Given the description of an element on the screen output the (x, y) to click on. 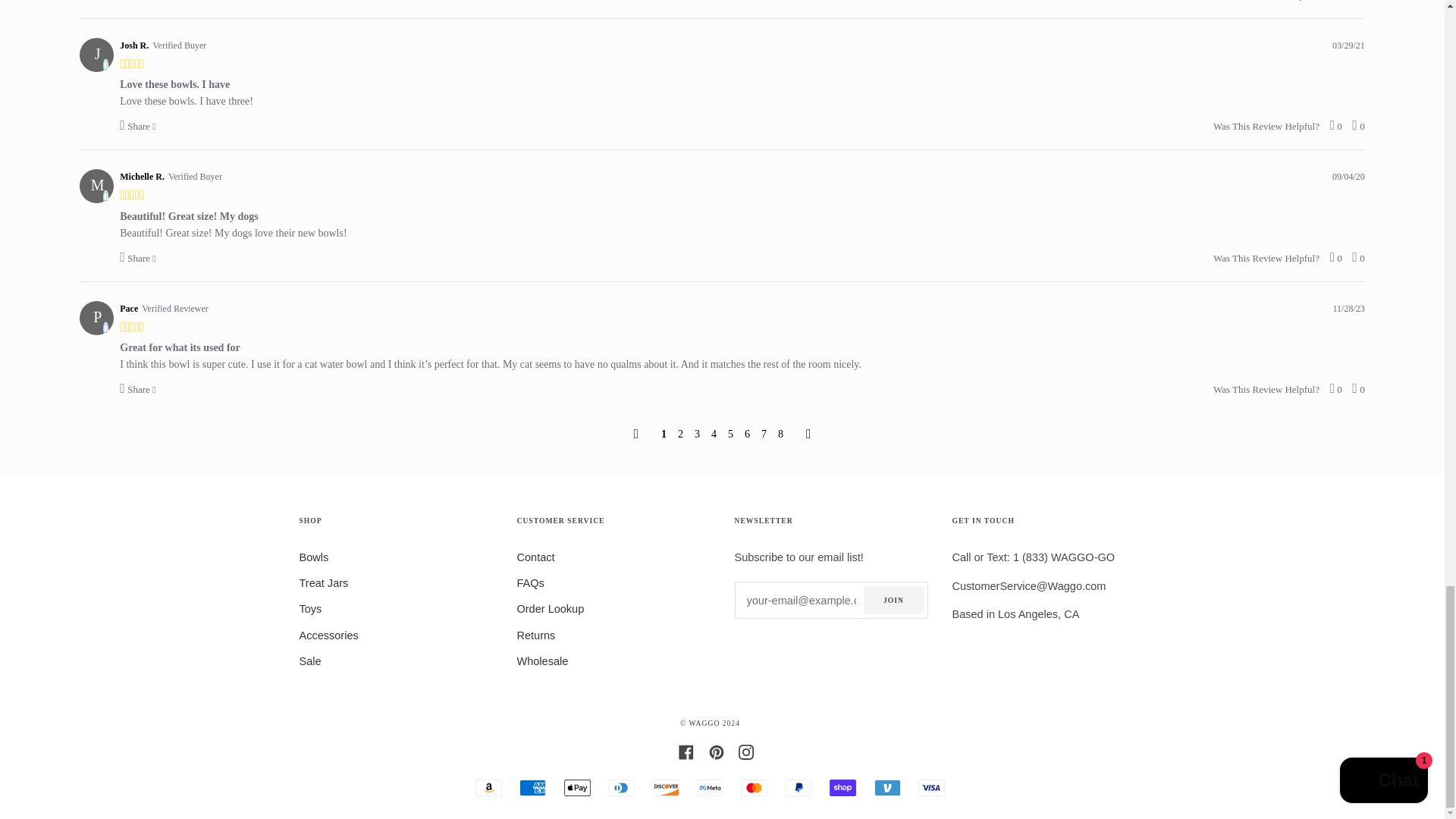
APPLE PAY (577, 787)
DINERS CLUB (621, 787)
PAYPAL (799, 787)
VENMO (888, 787)
DISCOVER (665, 787)
Instagram (746, 750)
Pinterest (715, 750)
Facebook (686, 750)
SHOP PAY (842, 787)
AMAZON (489, 787)
